Given the description of an element on the screen output the (x, y) to click on. 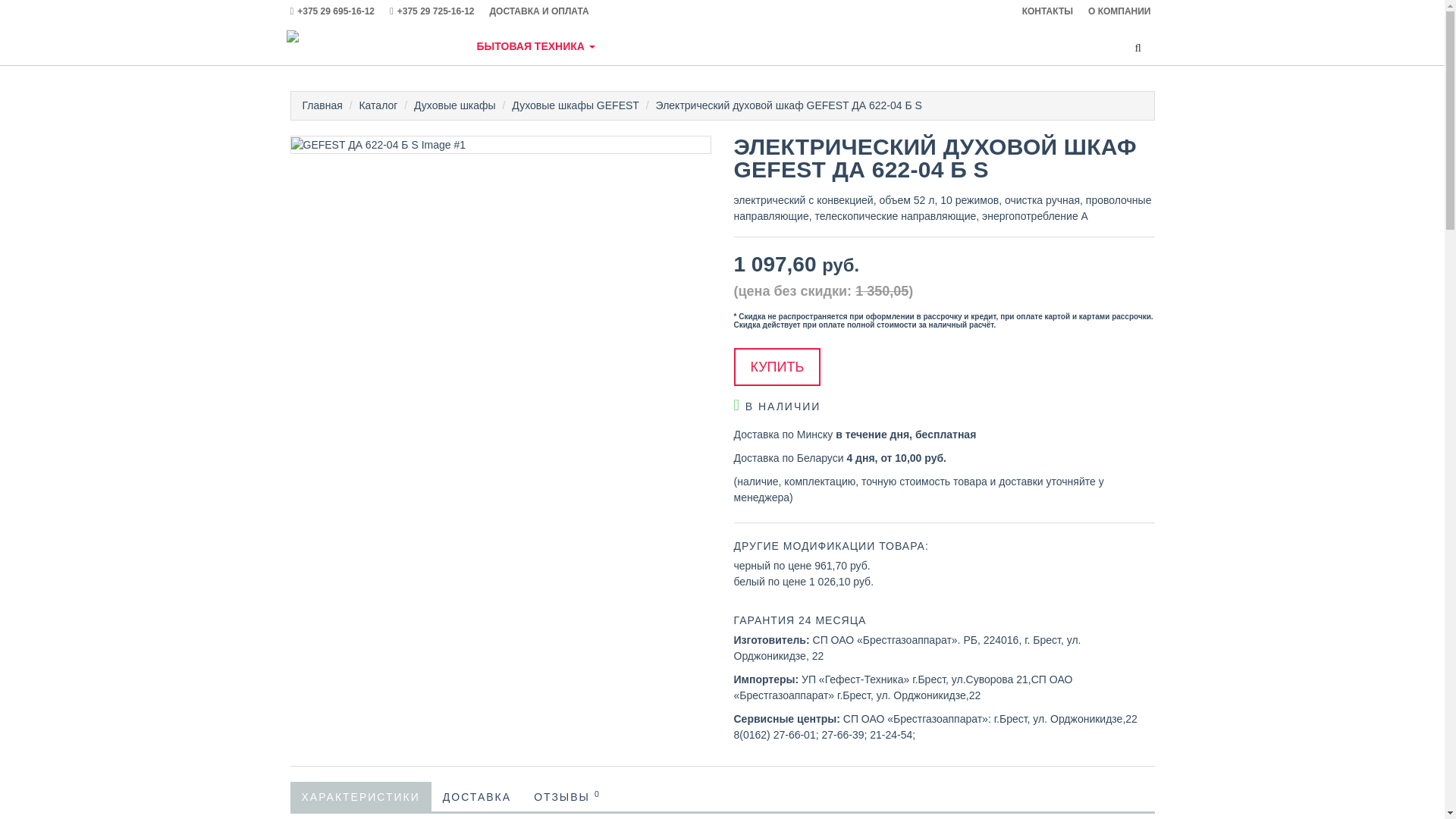
+375 29 725-16-12 Element type: text (439, 11)
+375 29 695-16-12 Element type: text (339, 11)
